Given the description of an element on the screen output the (x, y) to click on. 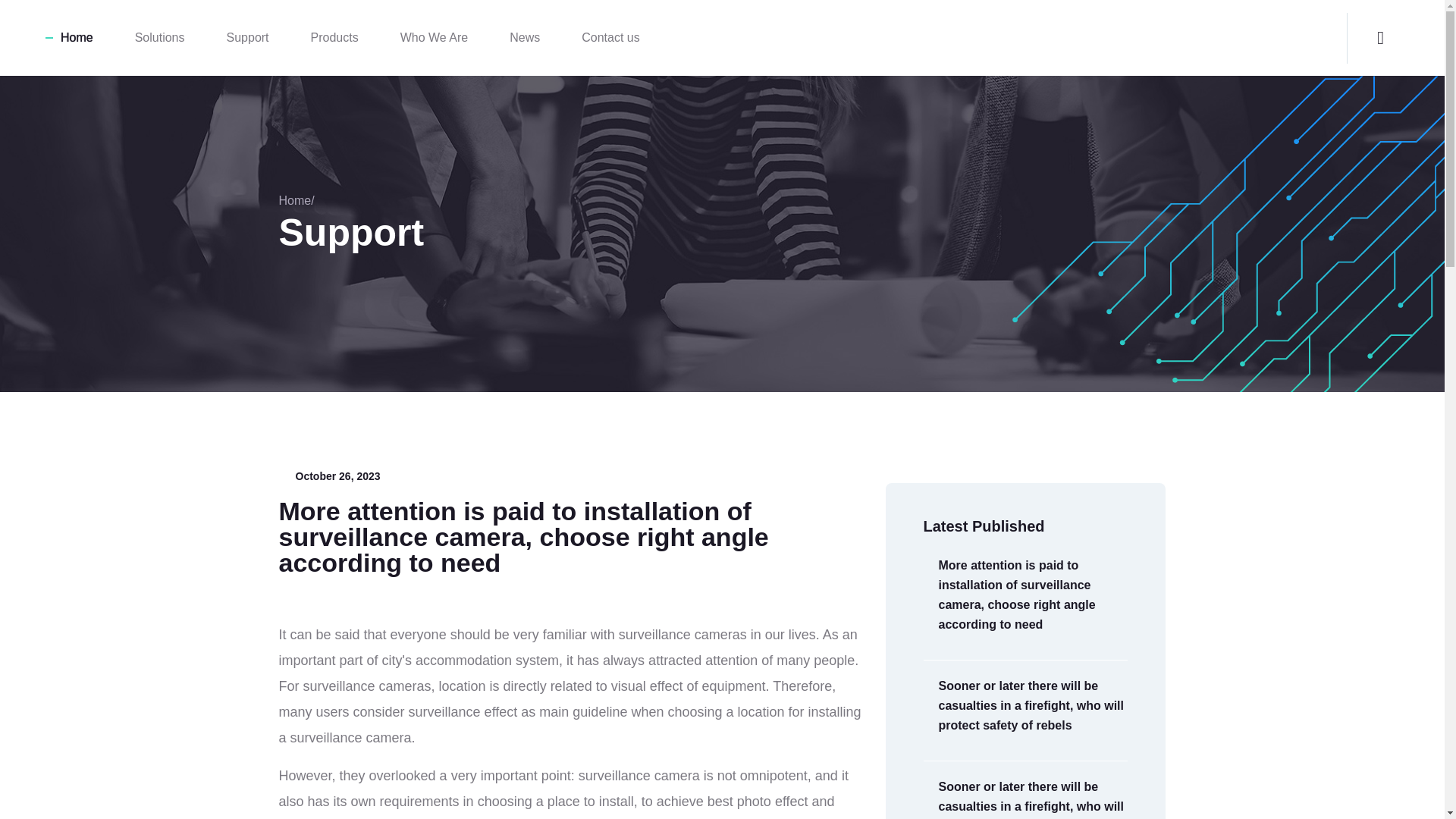
Support (248, 37)
Solutions (159, 37)
Contact us (609, 37)
Who We Are (434, 37)
Products (334, 37)
Home (77, 37)
News (524, 37)
